Given the description of an element on the screen output the (x, y) to click on. 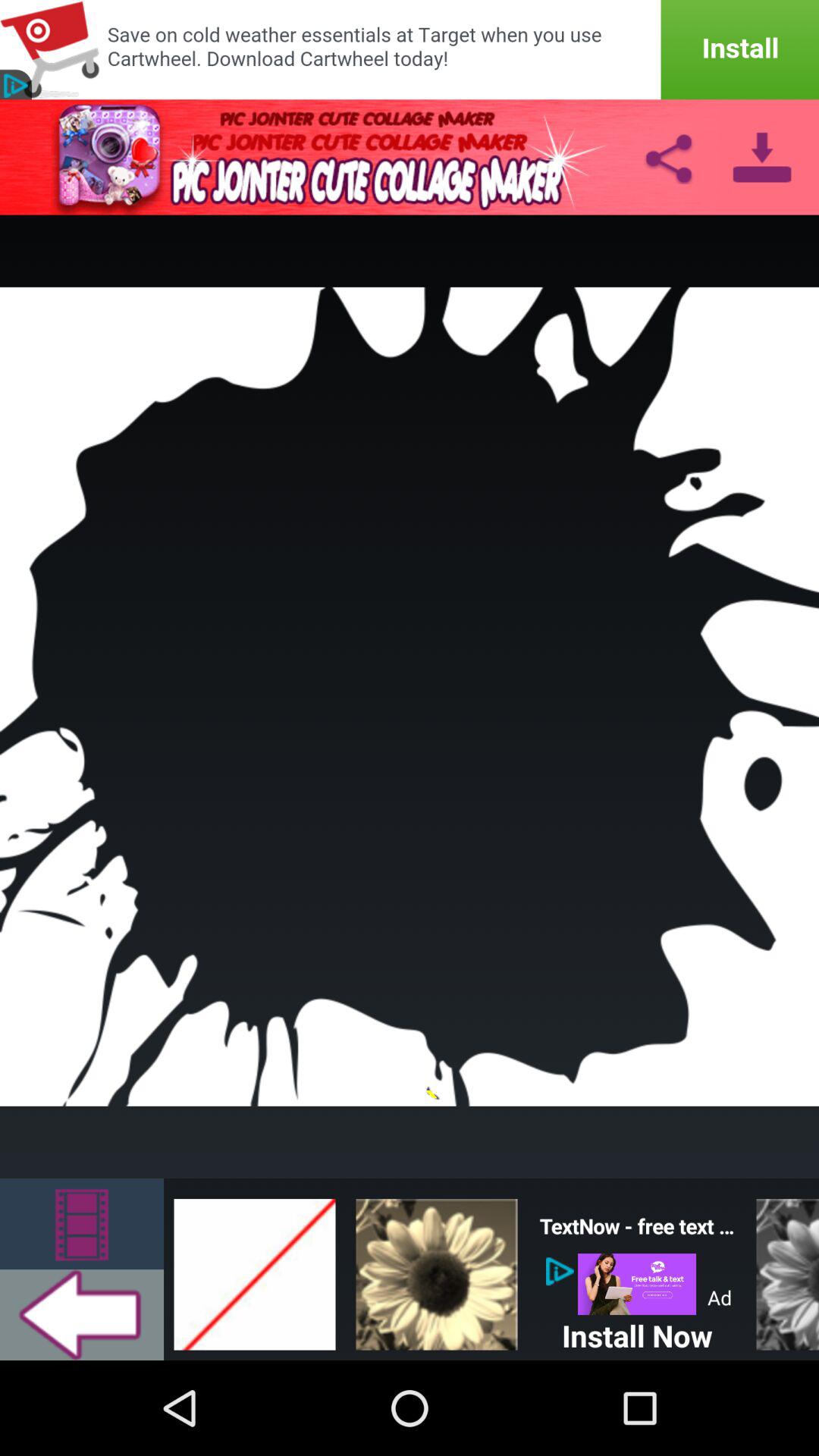
click advertisement (636, 1283)
